Given the description of an element on the screen output the (x, y) to click on. 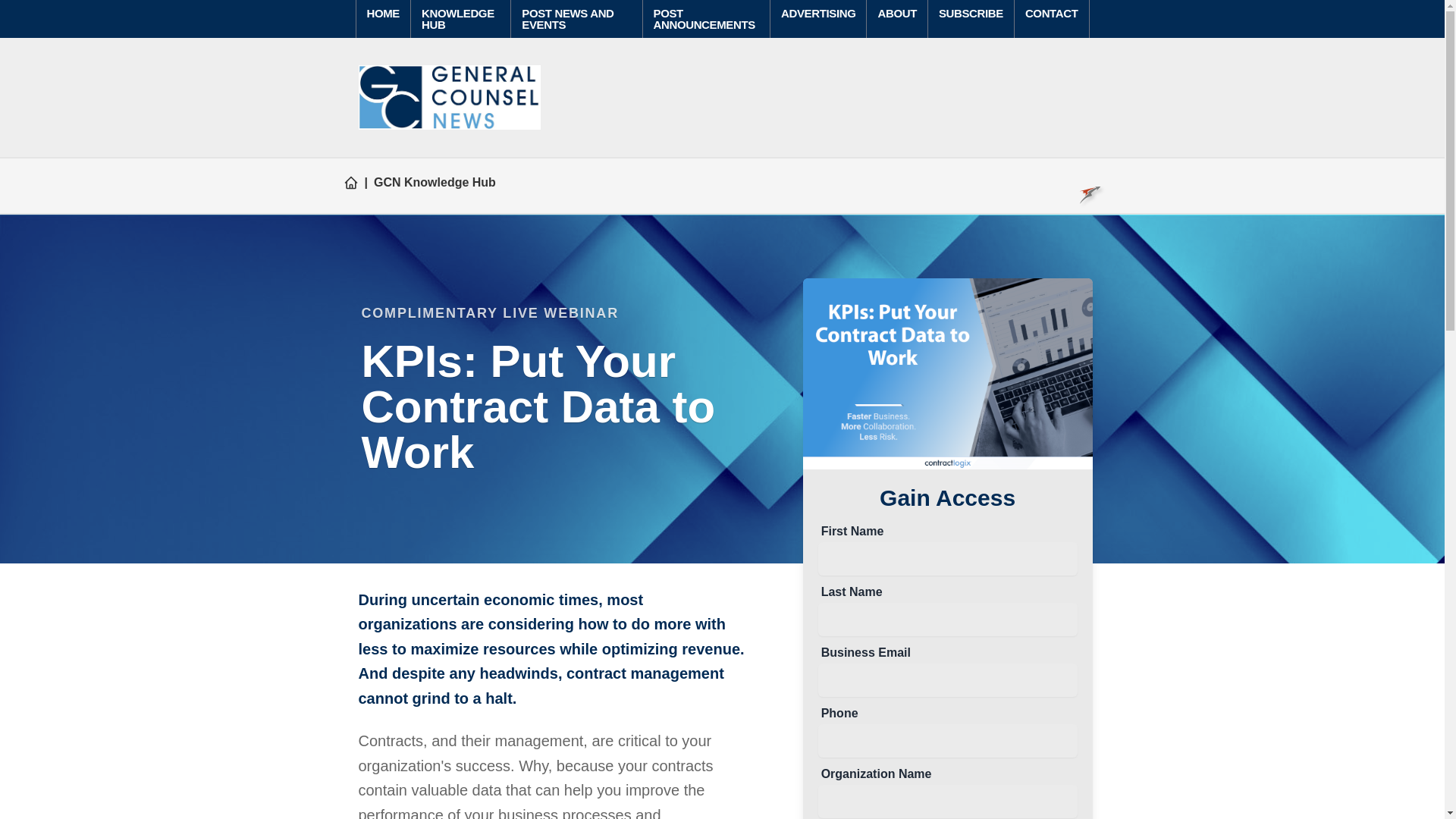
CONTACT (1051, 12)
POST ANNOUNCEMENTS (704, 18)
SUBSCRIBE (971, 12)
POST NEWS AND EVENTS (566, 18)
KNOWLEDGE HUB (458, 18)
HOME (383, 12)
ADVERTISING (818, 12)
ABOUT (896, 12)
